Given the description of an element on the screen output the (x, y) to click on. 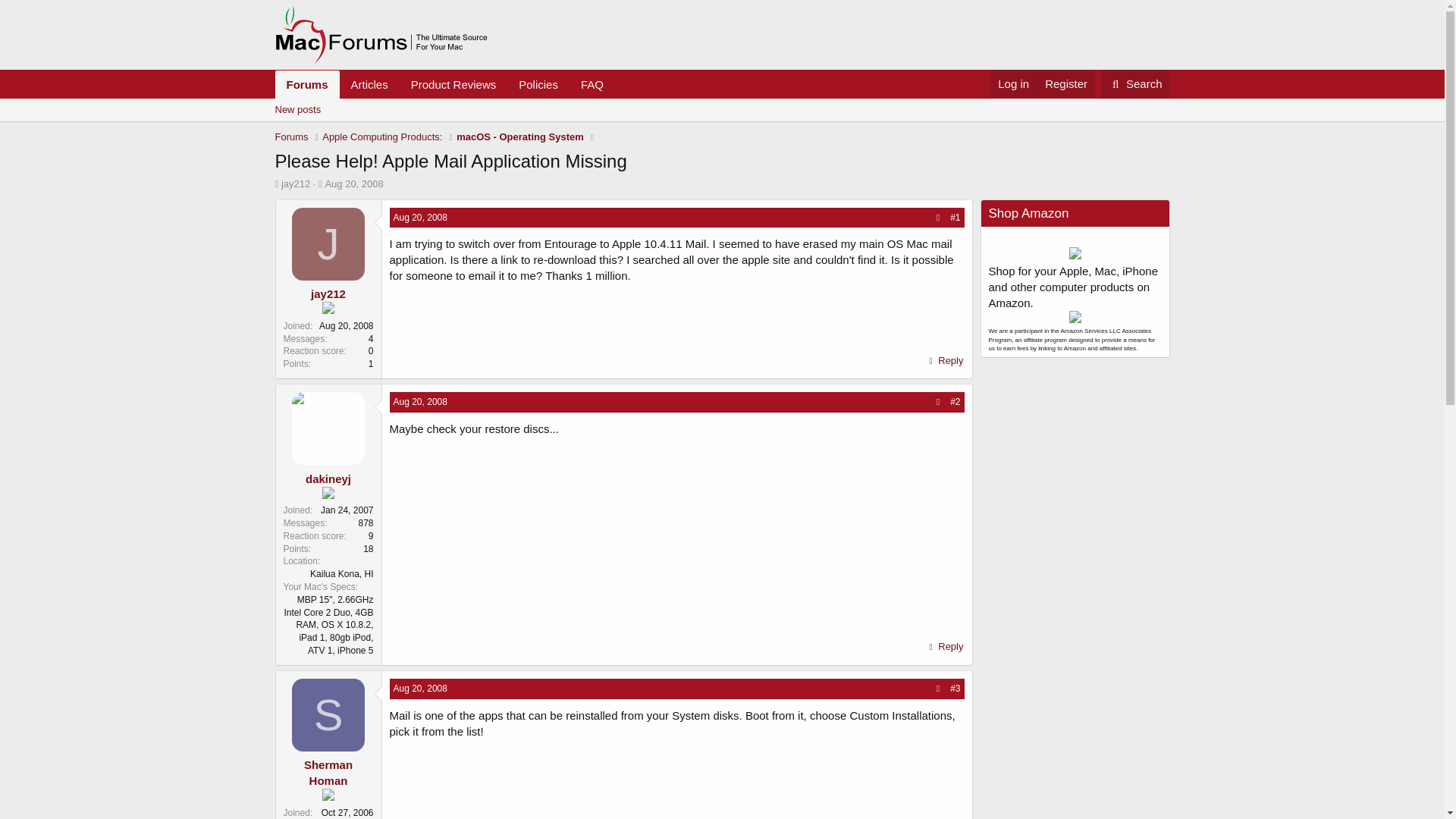
Forums (307, 84)
Reply (944, 646)
J (328, 244)
Register (1065, 83)
Articles (443, 84)
jay212 (368, 84)
Search (328, 293)
Policies (1135, 83)
New posts (537, 84)
